Given the description of an element on the screen output the (x, y) to click on. 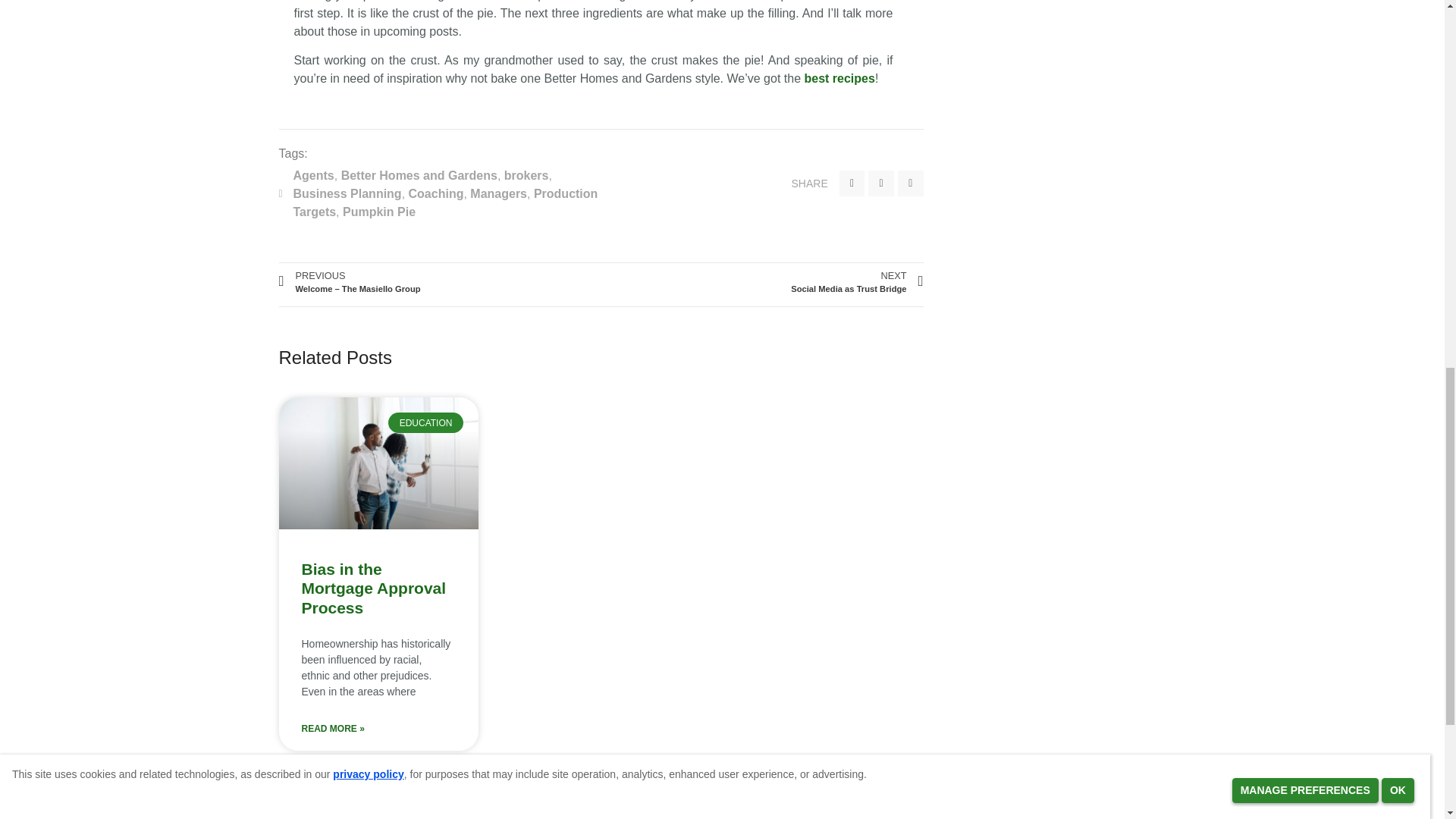
Business Planning (346, 193)
brokers (525, 174)
best recipes (839, 78)
Better Homes and Gardens (418, 174)
Agents (312, 174)
Coaching (436, 193)
